Given the description of an element on the screen output the (x, y) to click on. 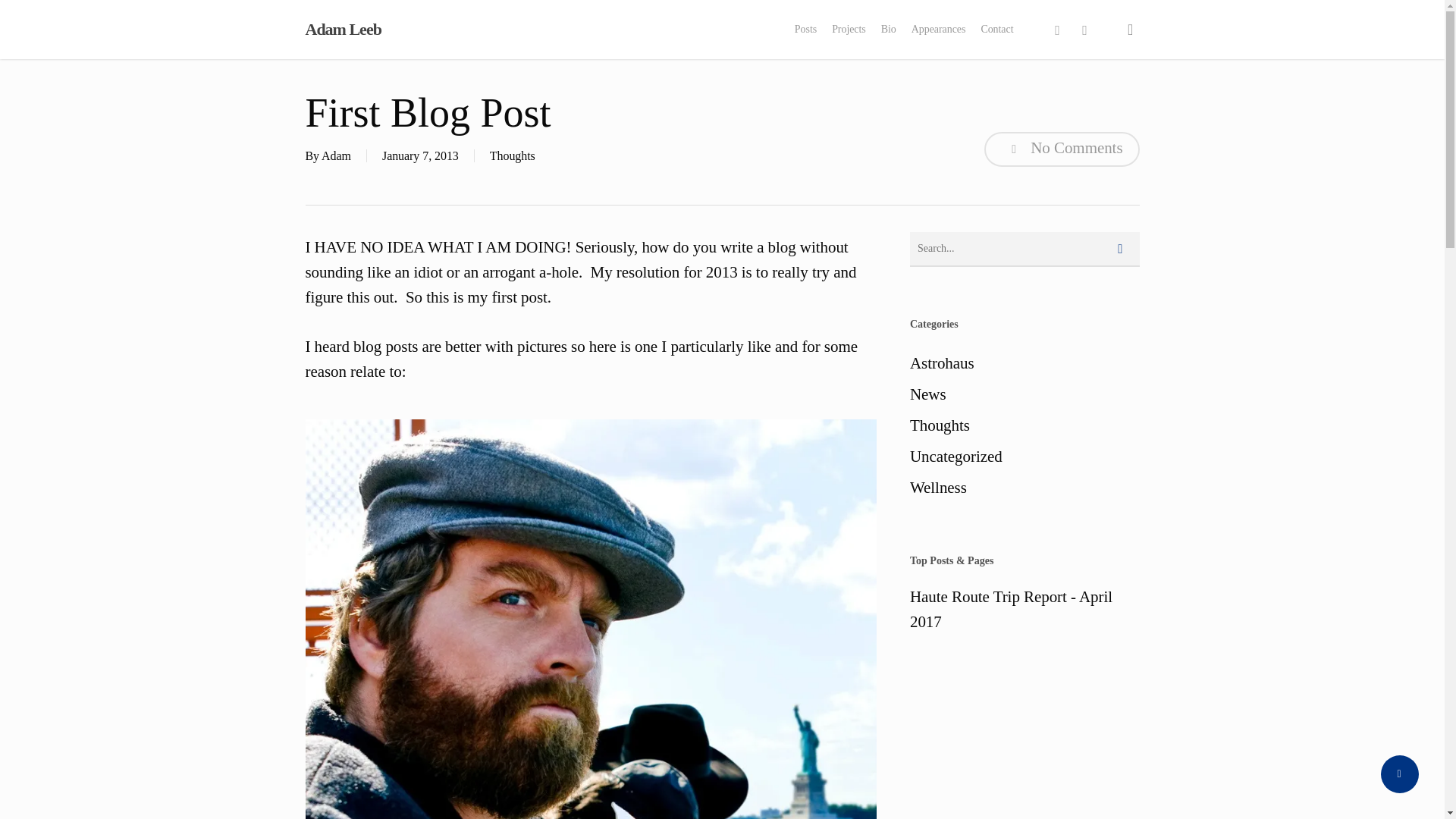
linkedin (1083, 29)
Wellness (1025, 487)
Haute Route Trip Report - April 2017 (1025, 609)
search (1129, 28)
Posts by Adam (335, 155)
Contact (996, 29)
Appearances (939, 29)
No Comments (1061, 149)
Astrohaus (1025, 363)
Uncategorized (1025, 456)
